Given the description of an element on the screen output the (x, y) to click on. 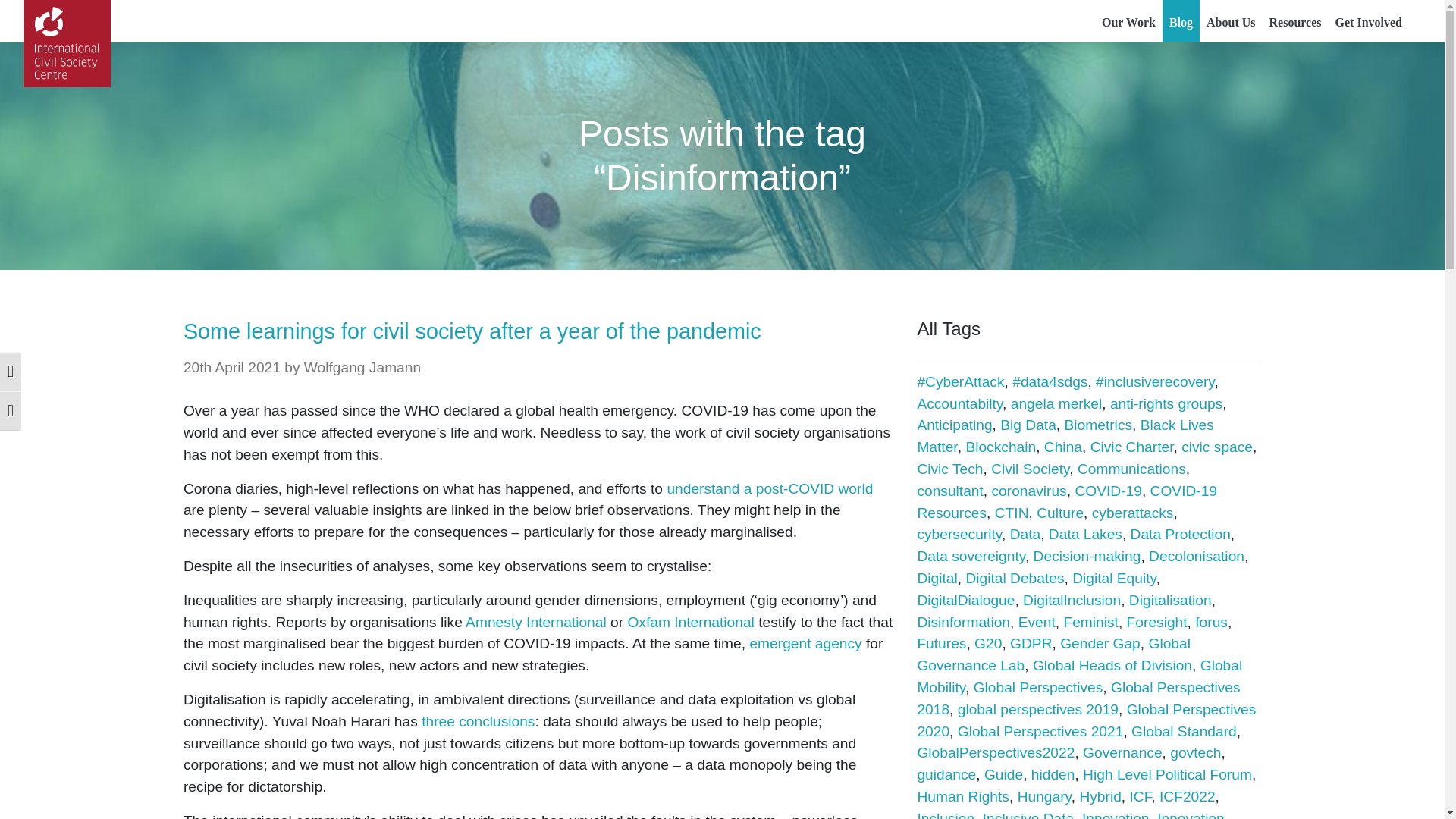
Oxfam International (690, 621)
Big Data (1028, 424)
Biometrics (1098, 424)
Find out more about we operate as an organisation (1230, 21)
Our Work (1127, 21)
Find out more about the work we do (1127, 21)
angela merkel (1056, 403)
Accountabilty (960, 403)
